Given the description of an element on the screen output the (x, y) to click on. 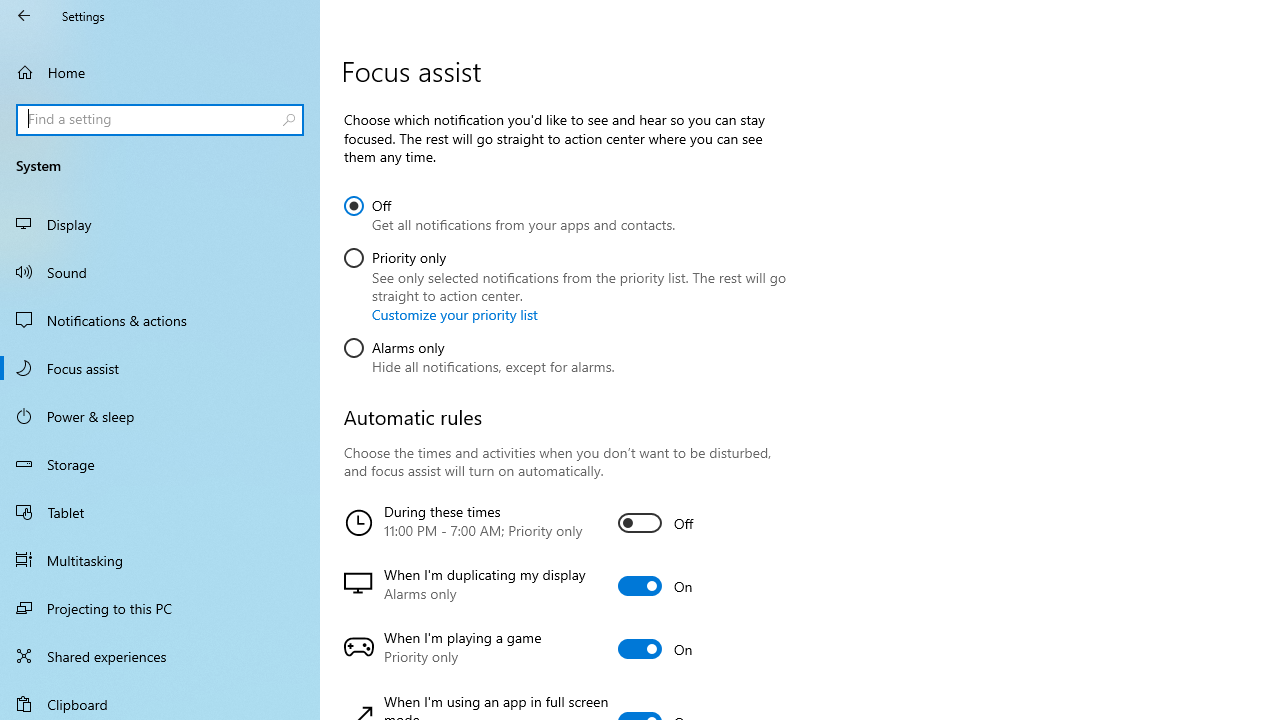
Alarms only (479, 353)
Multitasking (160, 559)
Projecting to this PC (160, 607)
When I'm duplicating my display (563, 586)
Tablet (160, 511)
Focus assist (160, 367)
Power & sleep (160, 415)
Shared experiences (160, 655)
Off (509, 212)
Home (160, 71)
When I'm playing a game (563, 649)
Storage (160, 463)
Notifications & actions (160, 319)
During these times (563, 523)
Priority only (565, 282)
